Given the description of an element on the screen output the (x, y) to click on. 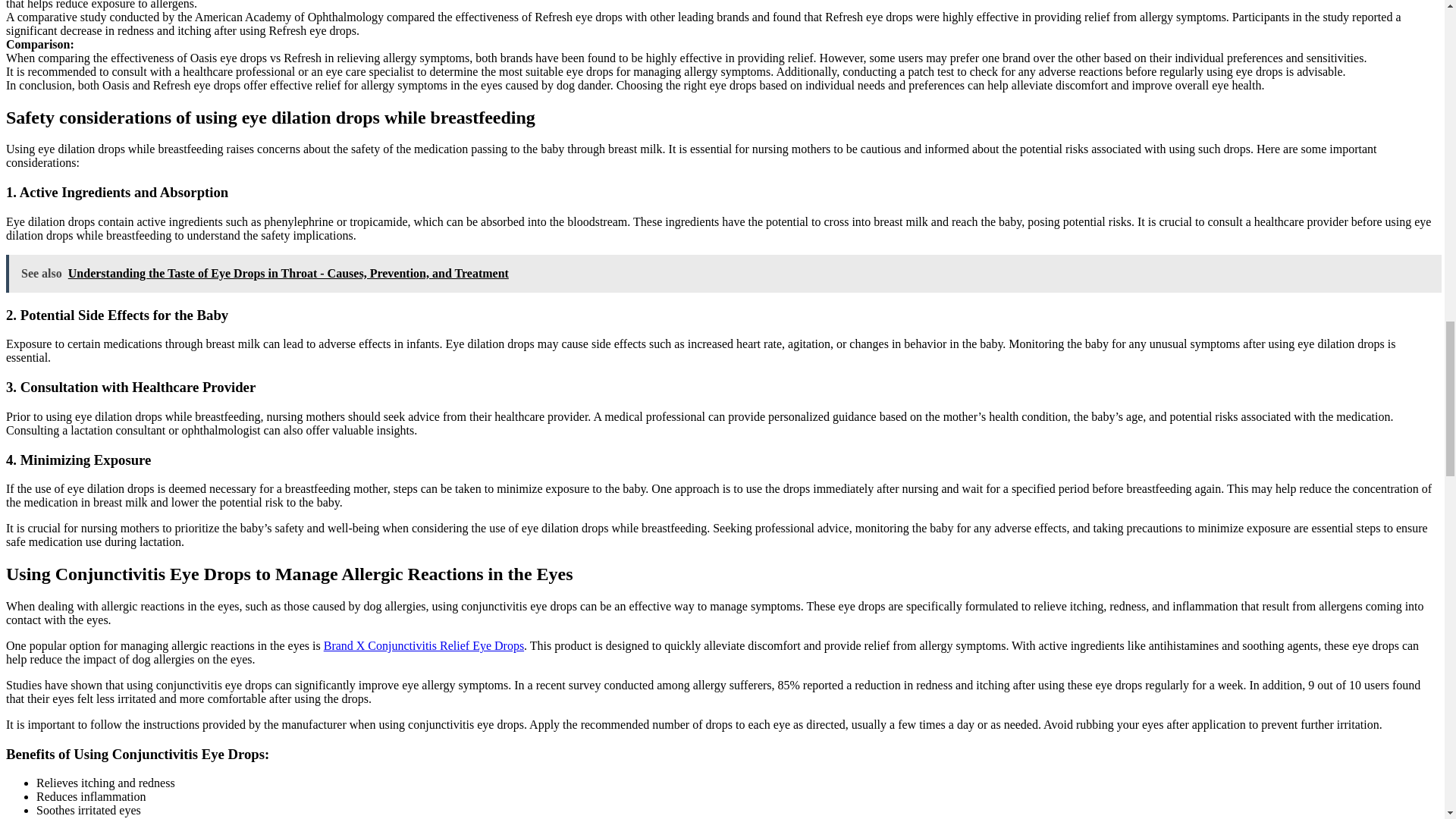
Brand X Conjunctivitis Relief Eye Drops (423, 645)
